Given the description of an element on the screen output the (x, y) to click on. 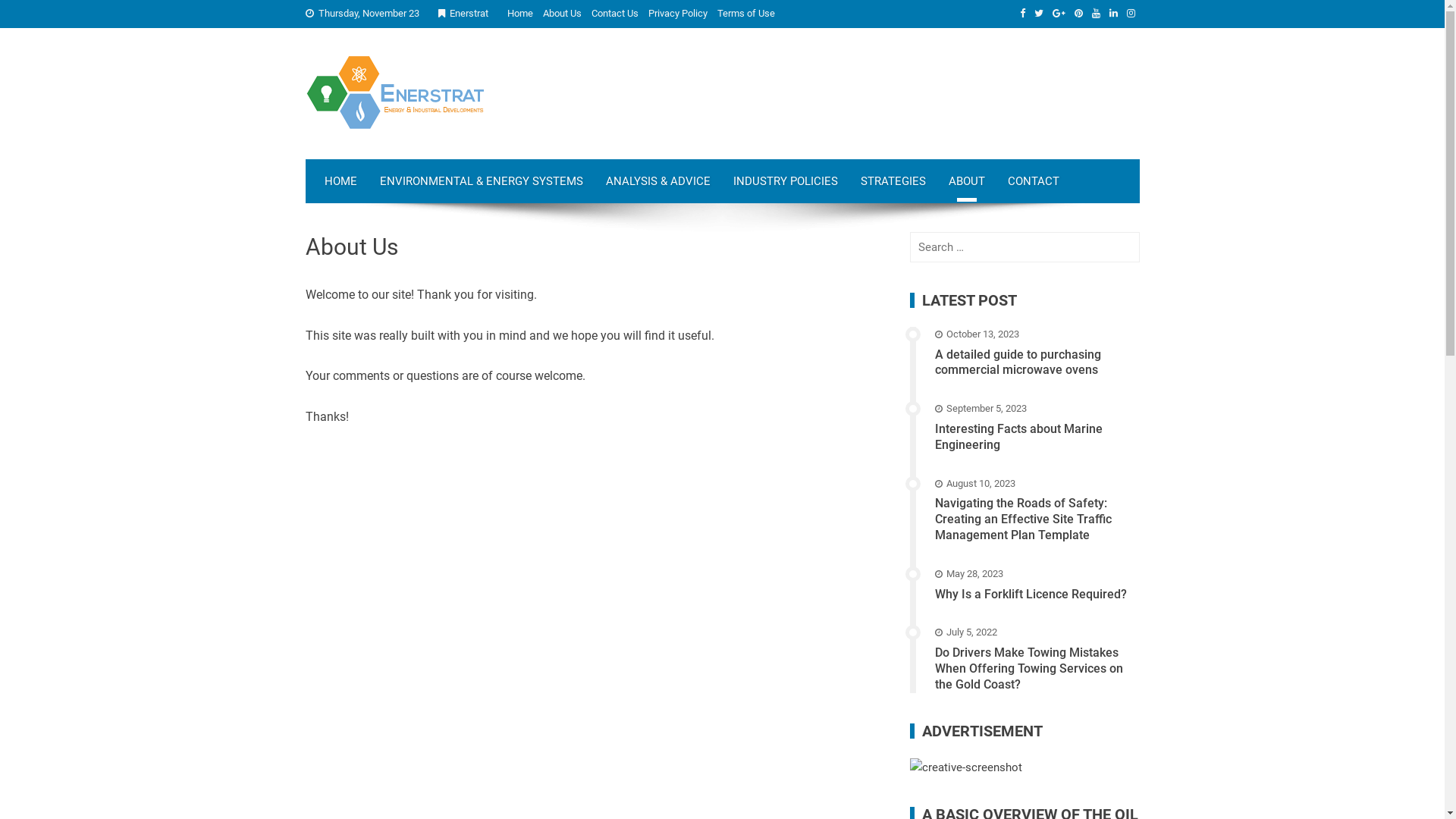
ENVIRONMENTAL & ENERGY SYSTEMS Element type: text (481, 181)
ANALYSIS & ADVICE Element type: text (657, 181)
INDUSTRY POLICIES Element type: text (785, 181)
Interesting Facts about Marine Engineering Element type: text (1018, 436)
About Us Element type: text (561, 12)
STRATEGIES Element type: text (893, 181)
Why Is a Forklift Licence Required? Element type: text (1030, 593)
CONTACT Element type: text (1033, 181)
Search Element type: text (32, 15)
HOME Element type: text (339, 181)
A detailed guide to purchasing commercial microwave ovens Element type: text (1018, 362)
Privacy Policy Element type: text (676, 12)
Contact Us Element type: text (614, 12)
Home Element type: text (519, 12)
Terms of Use Element type: text (746, 12)
ABOUT Element type: text (966, 181)
